Given the description of an element on the screen output the (x, y) to click on. 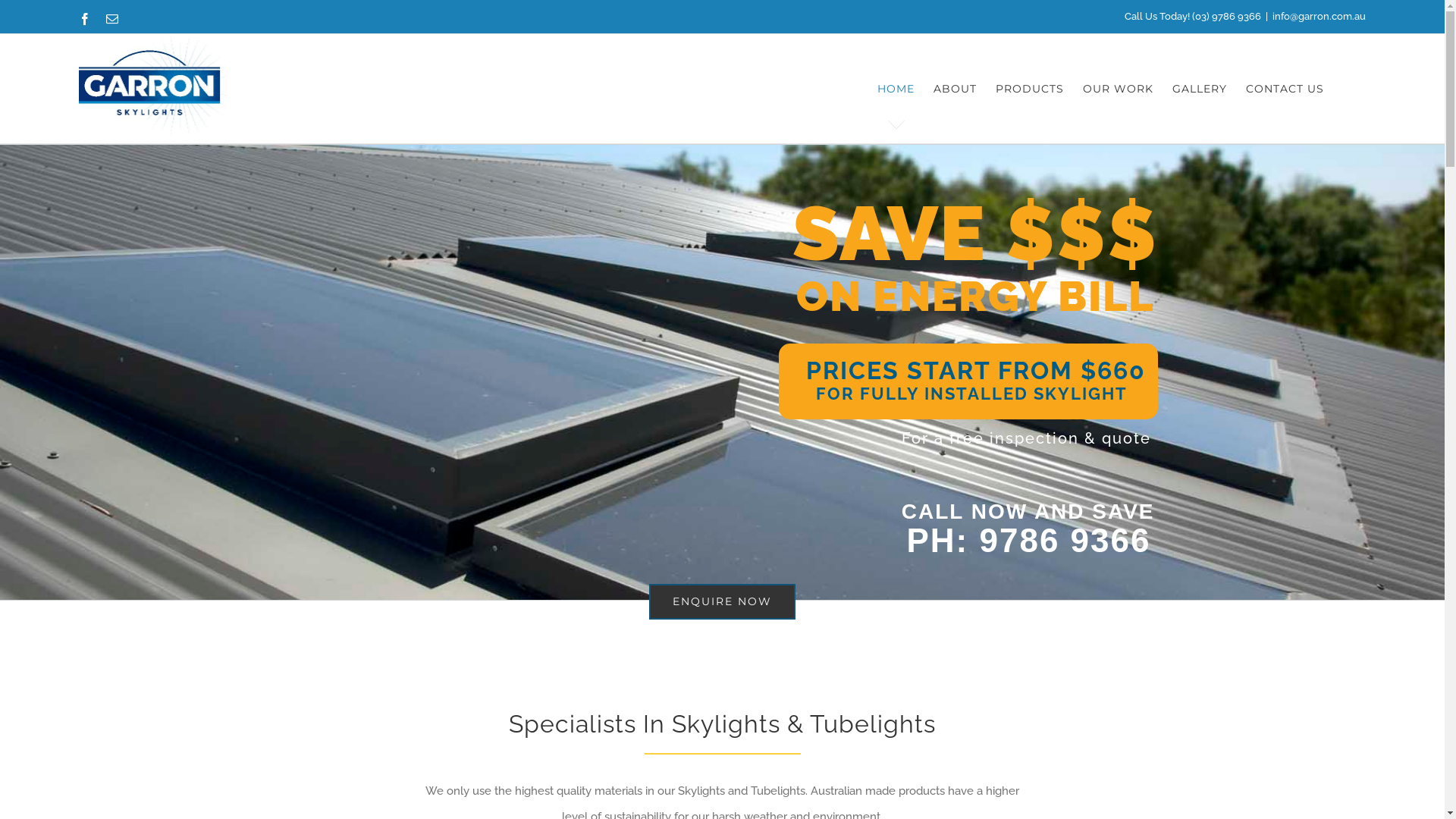
Email Element type: text (112, 18)
PRODUCTS Element type: text (1029, 88)
HOME Element type: text (895, 88)
CONTACT US Element type: text (1284, 88)
PH: 9786 9366 Element type: text (991, 540)
info@garron.com.au Element type: text (1318, 15)
Facebook Element type: text (84, 18)
GALLERY Element type: text (1199, 88)
ABOUT Element type: text (954, 88)
ENQUIRE NOW Element type: text (722, 601)
OUR WORK Element type: text (1117, 88)
